Given the description of an element on the screen output the (x, y) to click on. 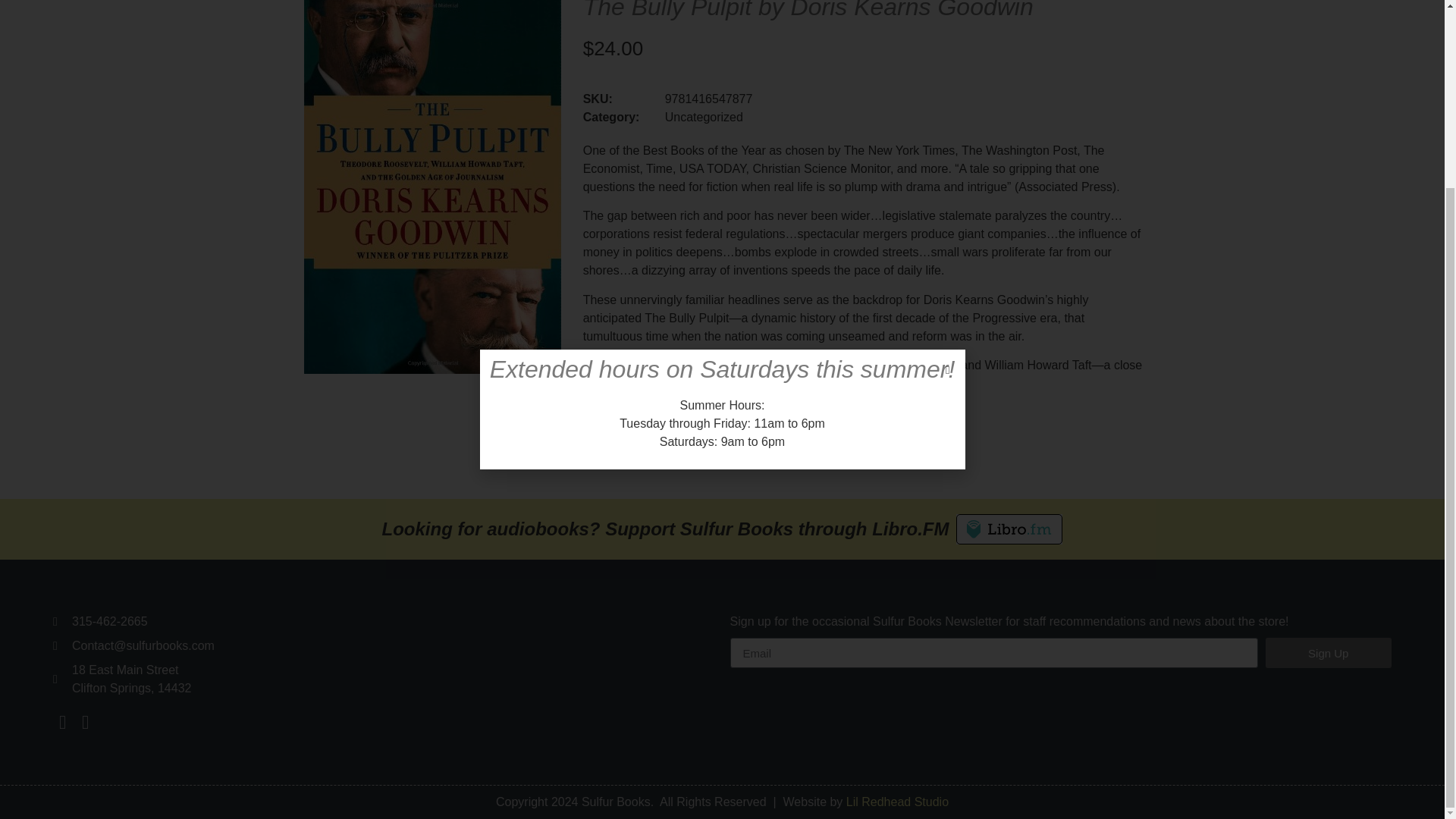
Sign Up (1328, 653)
Add to cart (630, 431)
Lil Redhead Studio (897, 801)
Uncategorized (703, 116)
